Given the description of an element on the screen output the (x, y) to click on. 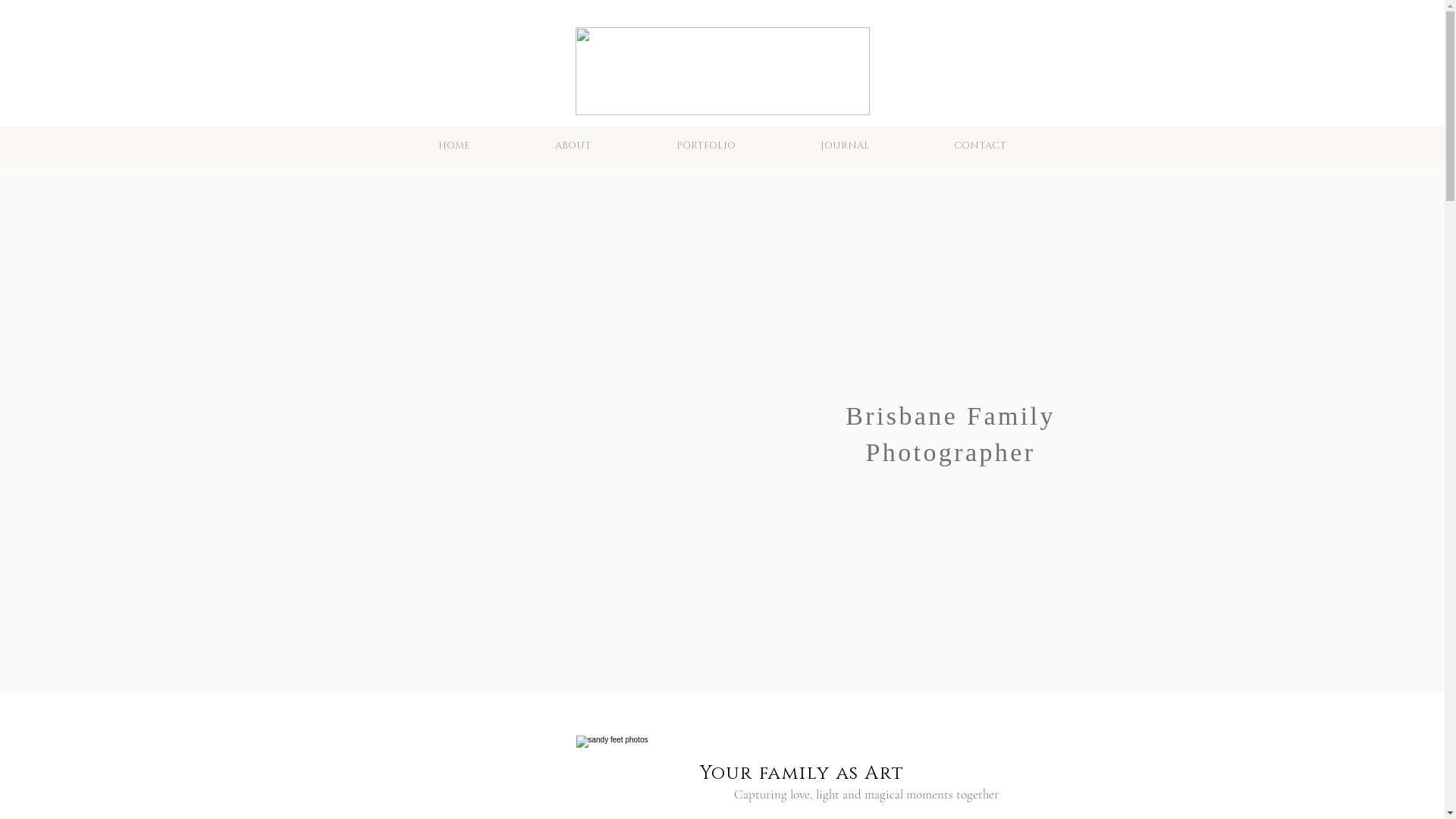
HOME Element type: text (453, 145)
CONTACT Element type: text (979, 145)
ABOUT Element type: text (572, 145)
JOURNAL Element type: text (845, 145)
